Given the description of an element on the screen output the (x, y) to click on. 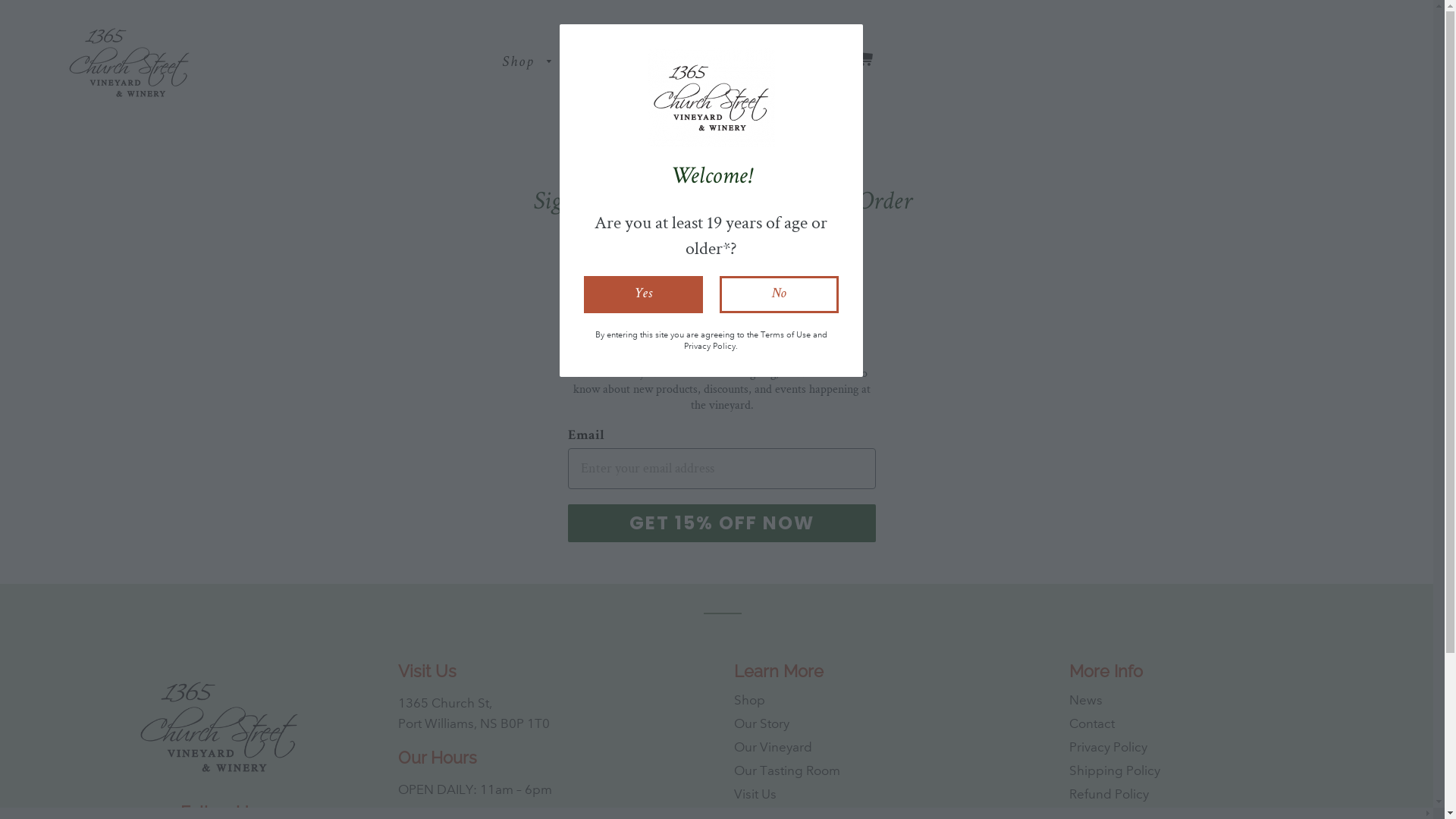
Privacy Policy Element type: text (1108, 747)
News Element type: text (1085, 700)
Our Vineyard Element type: text (773, 747)
Contact Element type: text (771, 63)
Refund Policy Element type: text (1108, 794)
Shipping Policy Element type: text (1114, 770)
Our Tasting Room Element type: text (787, 770)
Shop Element type: text (527, 63)
Shop Element type: text (749, 700)
Our Story Element type: text (761, 723)
News Element type: text (702, 63)
Search Element type: text (828, 61)
GET 15% OFF NOW Element type: text (721, 523)
Submit Element type: text (29, 16)
Visit Us Element type: text (755, 794)
About Us Element type: text (619, 63)
No Element type: text (777, 294)
Yes Element type: text (642, 294)
Cart Element type: text (863, 61)
Contact Element type: text (1091, 723)
